Given the description of an element on the screen output the (x, y) to click on. 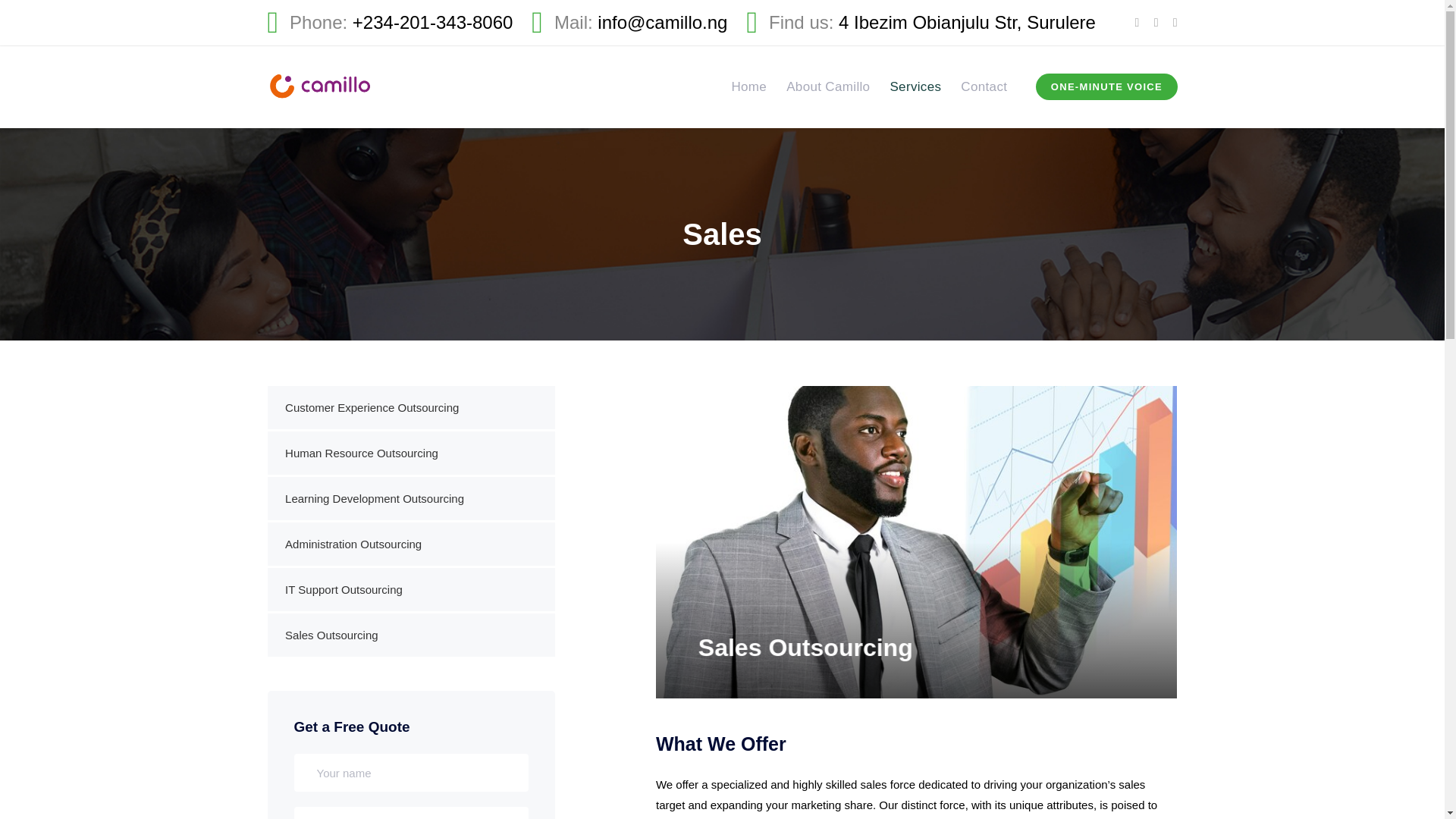
Learning Development Outsourcing (410, 498)
Administration Outsourcing (410, 543)
ONE-MINUTE VOICE (1105, 86)
IT Support Outsourcing (410, 589)
Sales Outsourcing (410, 634)
Human Resource Outsourcing (410, 453)
About Camillo (827, 86)
Customer Experience Outsourcing (410, 407)
